Given the description of an element on the screen output the (x, y) to click on. 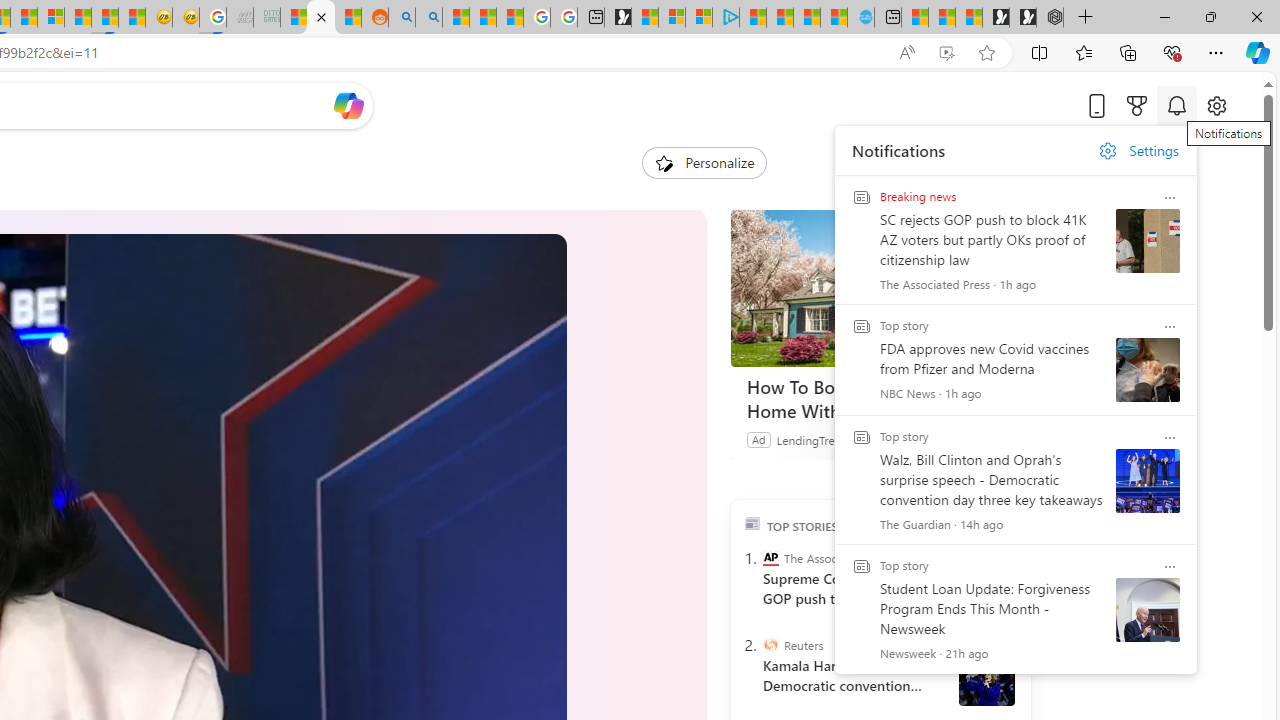
14 Common Myths Debunked By Scientific Facts (24, 17)
The Associated Press (770, 557)
How To Borrow From Your Home Without Touching Your Mortgage (880, 399)
